Given the description of an element on the screen output the (x, y) to click on. 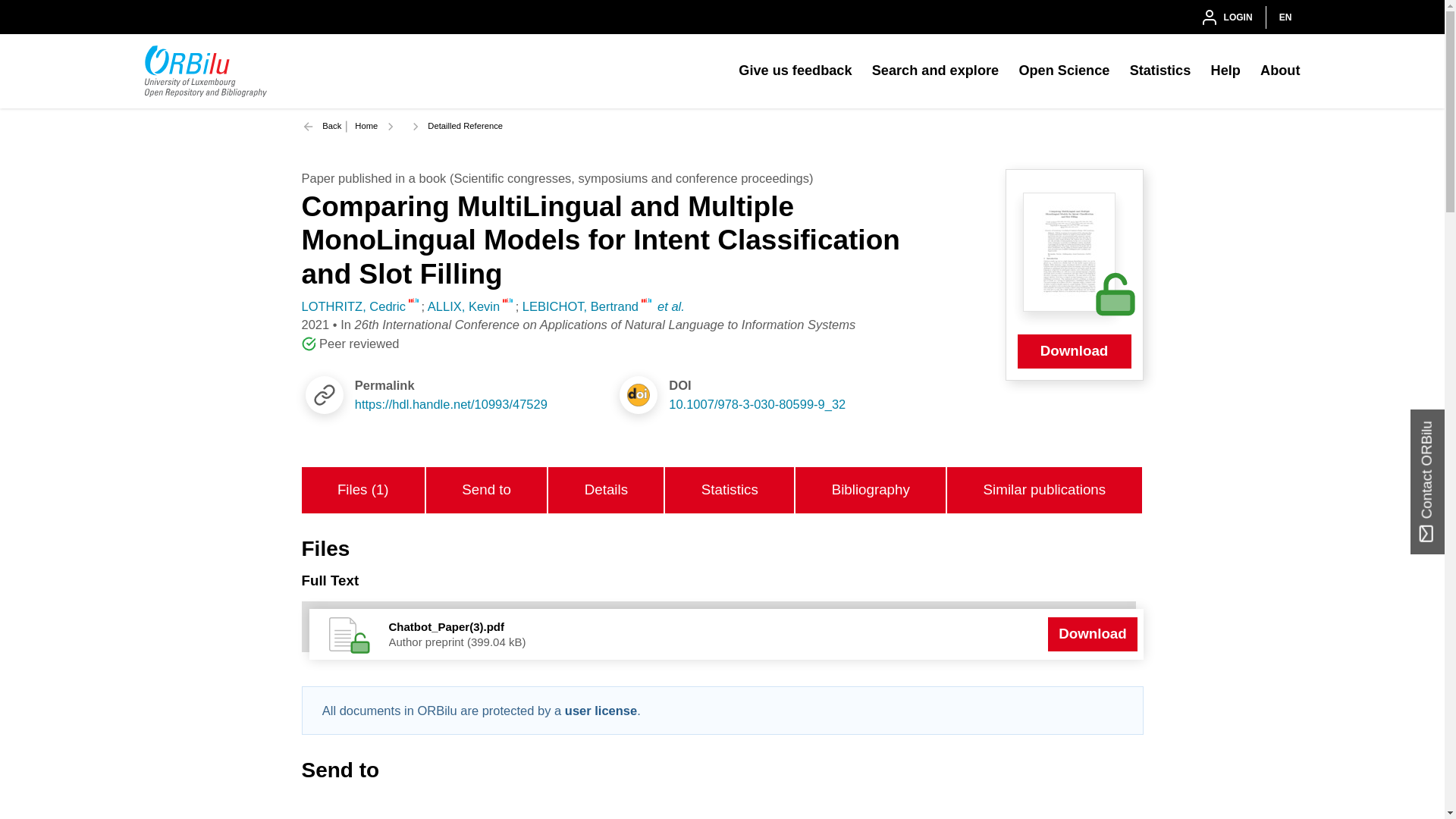
About (1280, 70)
Open Science (1063, 70)
Help (1225, 70)
  LOGIN (1225, 17)
Give us feedback (794, 70)
Statistics (1160, 70)
Search and explore (935, 70)
